Given the description of an element on the screen output the (x, y) to click on. 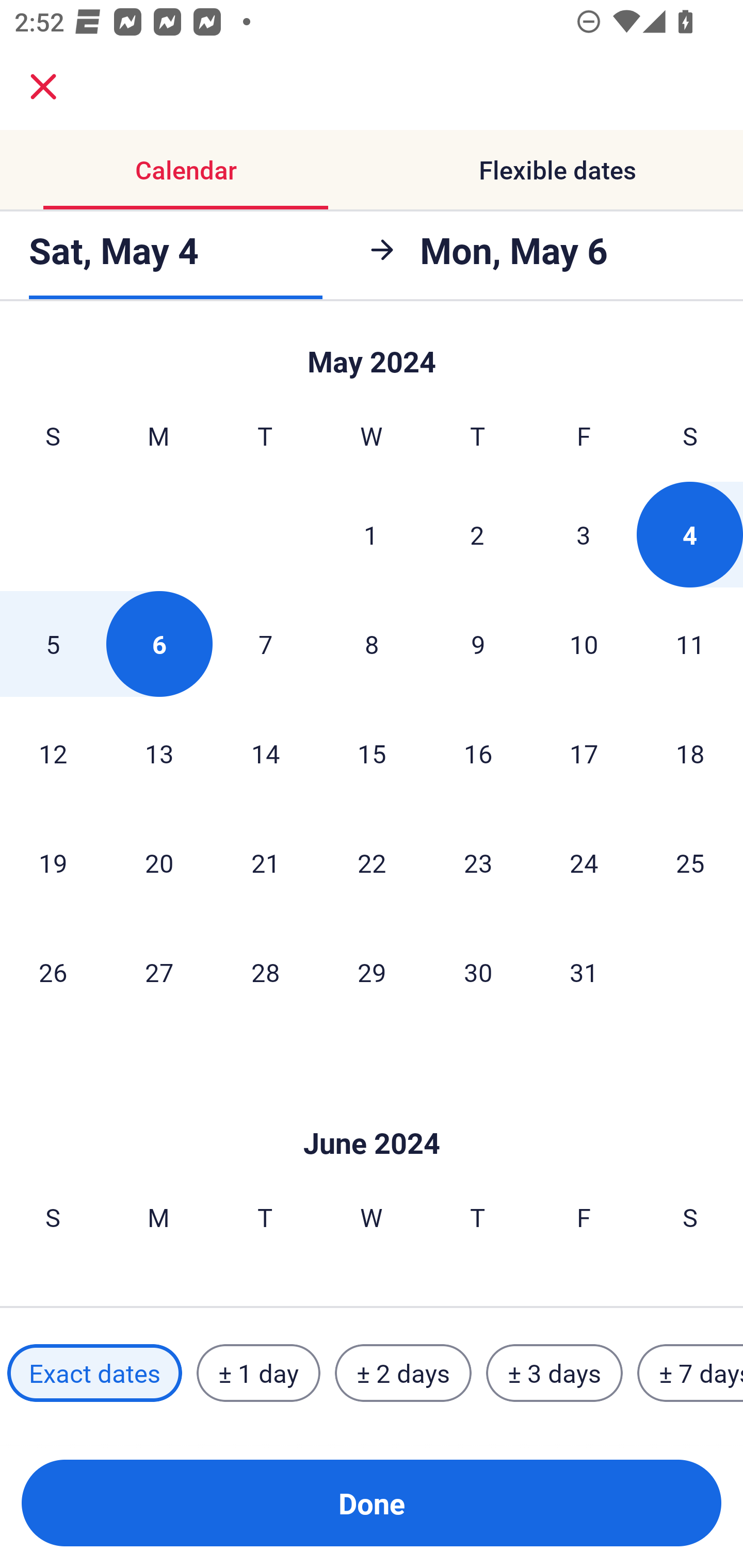
close. (43, 86)
Flexible dates (557, 170)
Skip to Done (371, 352)
1 Wednesday, May 1, 2024 (371, 534)
2 Thursday, May 2, 2024 (477, 534)
3 Friday, May 3, 2024 (583, 534)
7 Tuesday, May 7, 2024 (265, 643)
8 Wednesday, May 8, 2024 (371, 643)
9 Thursday, May 9, 2024 (477, 643)
10 Friday, May 10, 2024 (584, 643)
11 Saturday, May 11, 2024 (690, 643)
12 Sunday, May 12, 2024 (53, 752)
13 Monday, May 13, 2024 (159, 752)
14 Tuesday, May 14, 2024 (265, 752)
15 Wednesday, May 15, 2024 (371, 752)
16 Thursday, May 16, 2024 (477, 752)
17 Friday, May 17, 2024 (584, 752)
18 Saturday, May 18, 2024 (690, 752)
19 Sunday, May 19, 2024 (53, 862)
20 Monday, May 20, 2024 (159, 862)
21 Tuesday, May 21, 2024 (265, 862)
22 Wednesday, May 22, 2024 (371, 862)
23 Thursday, May 23, 2024 (477, 862)
24 Friday, May 24, 2024 (584, 862)
25 Saturday, May 25, 2024 (690, 862)
26 Sunday, May 26, 2024 (53, 971)
27 Monday, May 27, 2024 (159, 971)
28 Tuesday, May 28, 2024 (265, 971)
29 Wednesday, May 29, 2024 (371, 971)
30 Thursday, May 30, 2024 (477, 971)
31 Friday, May 31, 2024 (584, 971)
Skip to Done (371, 1112)
Exact dates (94, 1372)
± 1 day (258, 1372)
± 2 days (403, 1372)
± 3 days (553, 1372)
± 7 days (690, 1372)
Done (371, 1502)
